Given the description of an element on the screen output the (x, y) to click on. 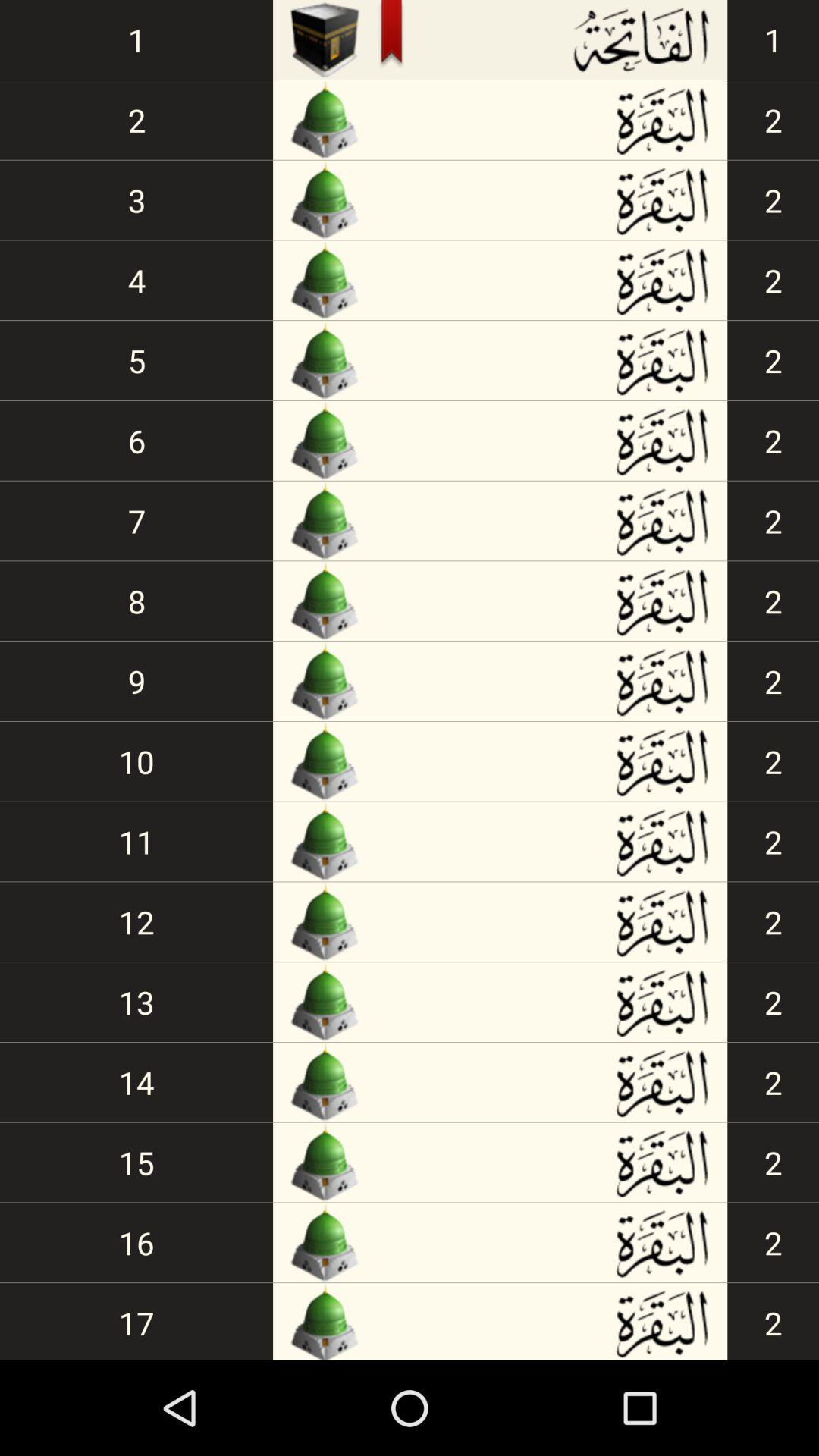
choose the icon above 17 item (136, 1242)
